Given the description of an element on the screen output the (x, y) to click on. 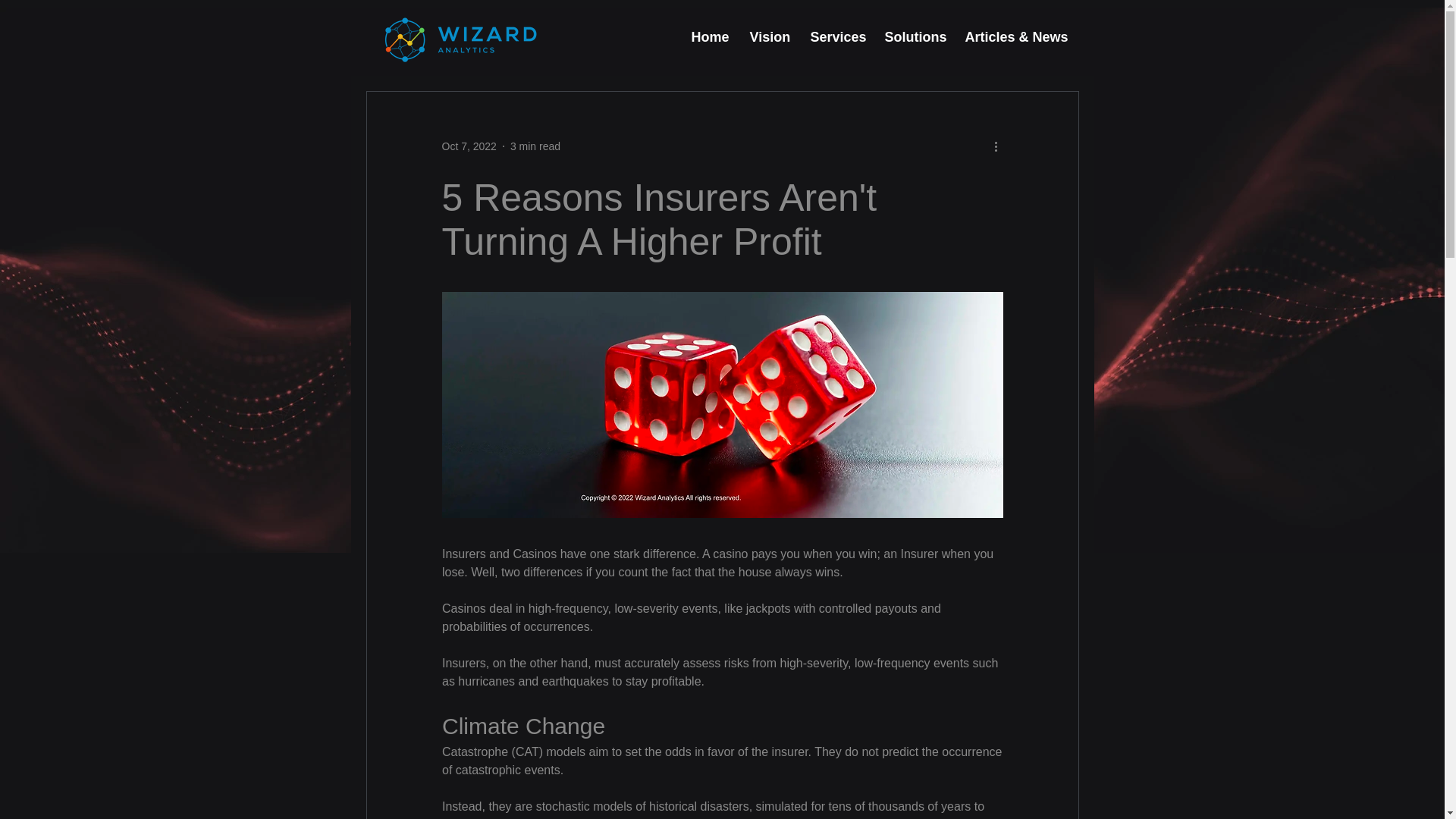
Vision (768, 37)
Oct 7, 2022 (468, 145)
Services (836, 37)
Icon Transparant.png (461, 37)
3 min read (535, 145)
Home (708, 37)
